Given the description of an element on the screen output the (x, y) to click on. 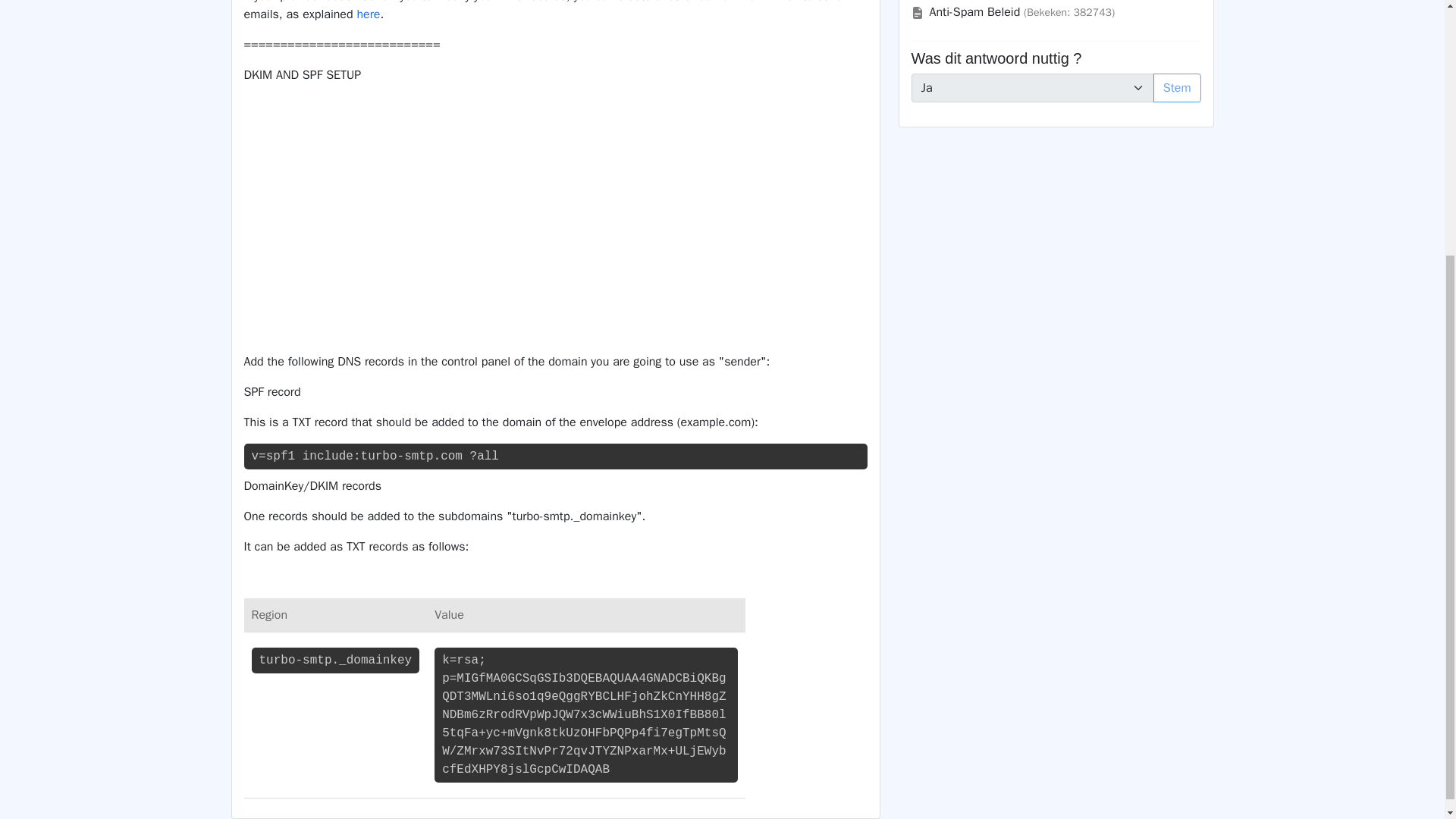
Anti-Spam Beleid (975, 11)
here (368, 14)
Stem (1177, 87)
